Given the description of an element on the screen output the (x, y) to click on. 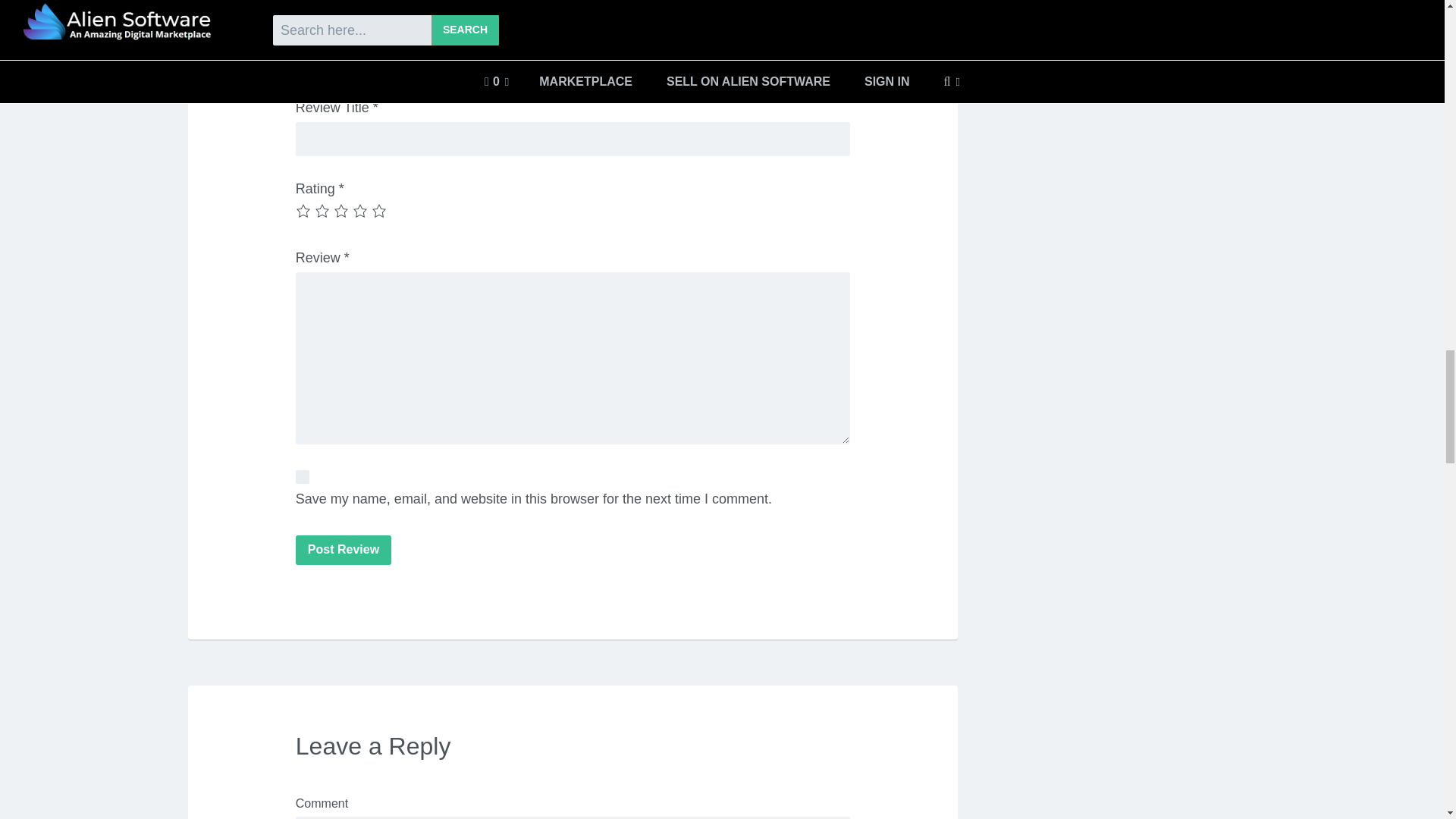
yes (301, 477)
Post Review (343, 549)
Post Review (343, 549)
